Given the description of an element on the screen output the (x, y) to click on. 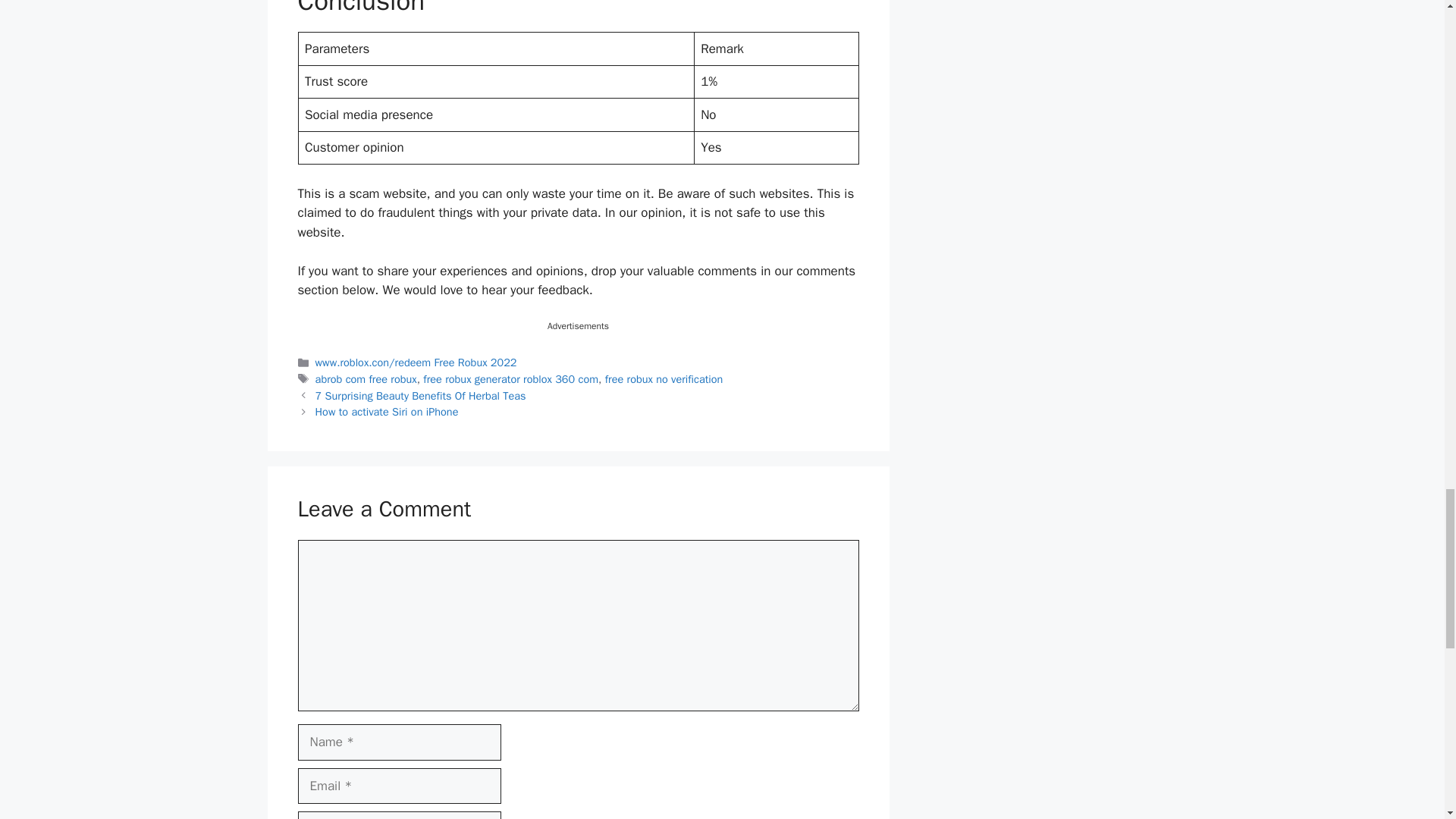
free robux generator roblox 360 com (510, 378)
free robux no verification (664, 378)
abrob com free robux (365, 378)
7 Surprising Beauty Benefits Of Herbal Teas (420, 395)
How to activate Siri on iPhone (386, 411)
